Given the description of an element on the screen output the (x, y) to click on. 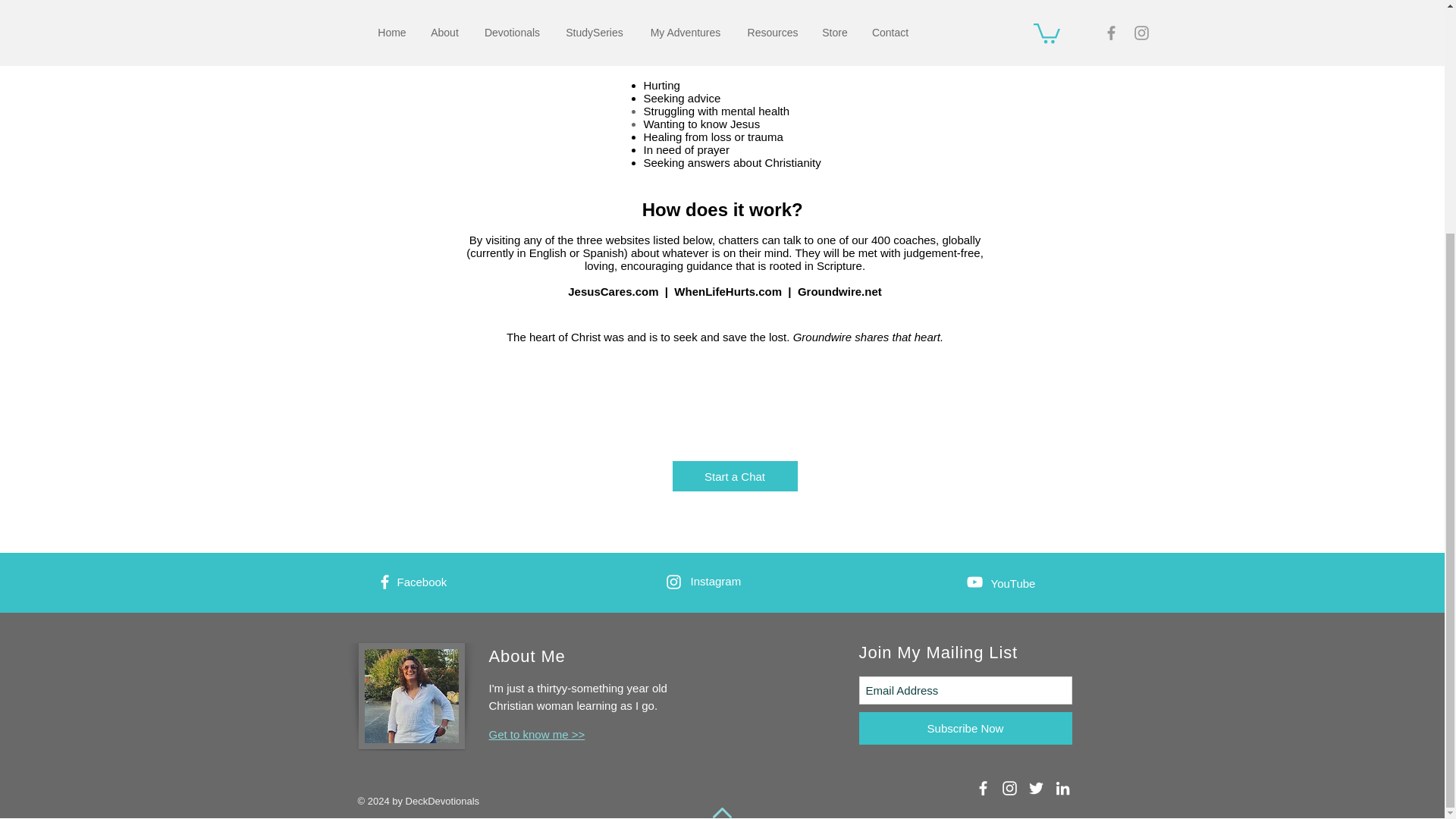
Instagram (715, 581)
Start a Chat (733, 476)
YouTube (1012, 583)
Facebook (421, 581)
Subscribe Now (965, 727)
